Given the description of an element on the screen output the (x, y) to click on. 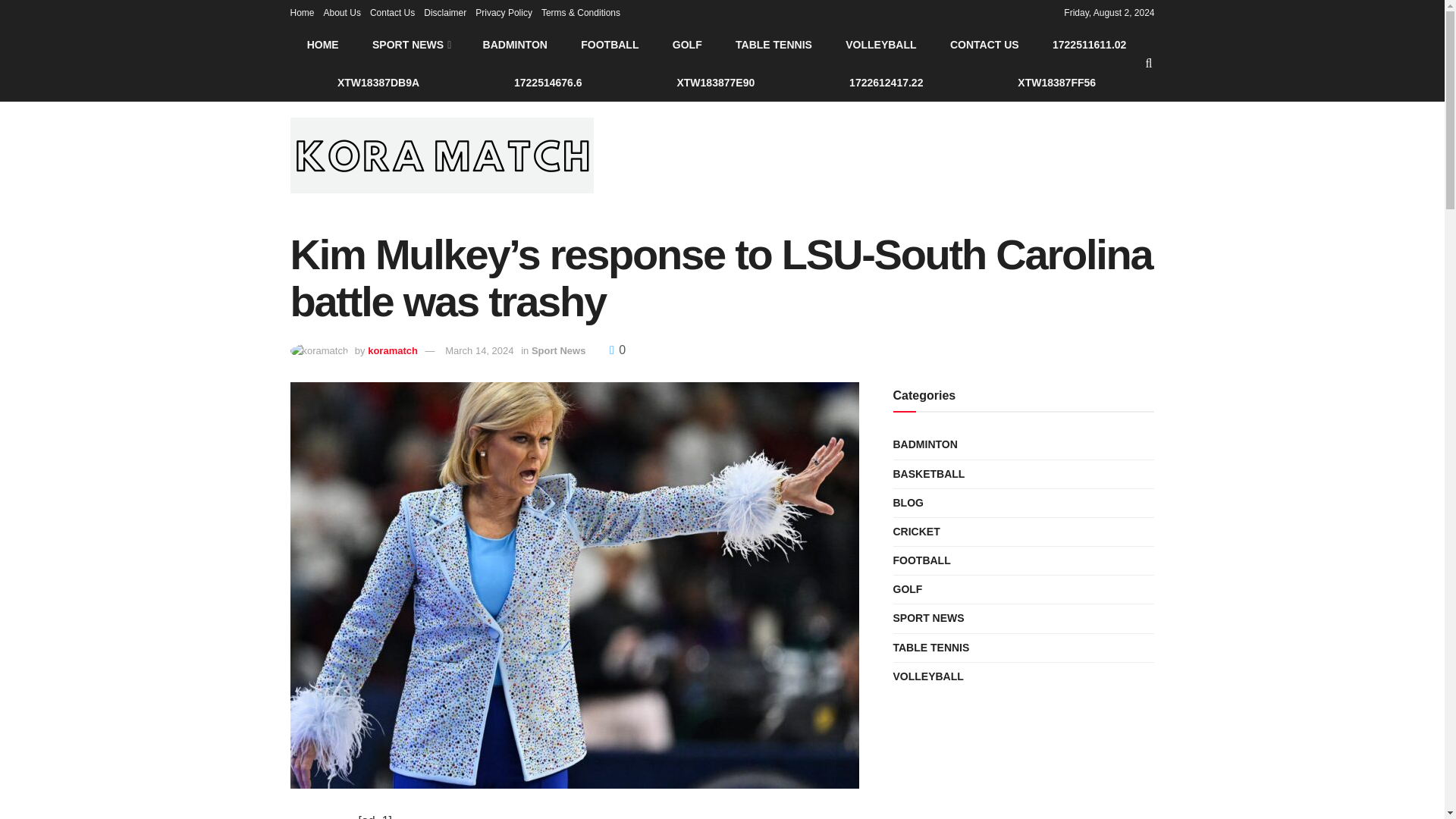
1722612417.22 (886, 82)
Privacy Policy (504, 12)
1722514676.6 (547, 82)
Disclaimer (444, 12)
FOOTBALL (610, 44)
XTW18387DB9A (377, 82)
1722511611.02 (1088, 44)
XTW183877E90 (715, 82)
HOME (322, 44)
VOLLEYBALL (880, 44)
XTW18387FF56 (1056, 82)
TABLE TENNIS (773, 44)
Contact Us (391, 12)
SPORT NEWS (410, 44)
About Us (342, 12)
